Given the description of an element on the screen output the (x, y) to click on. 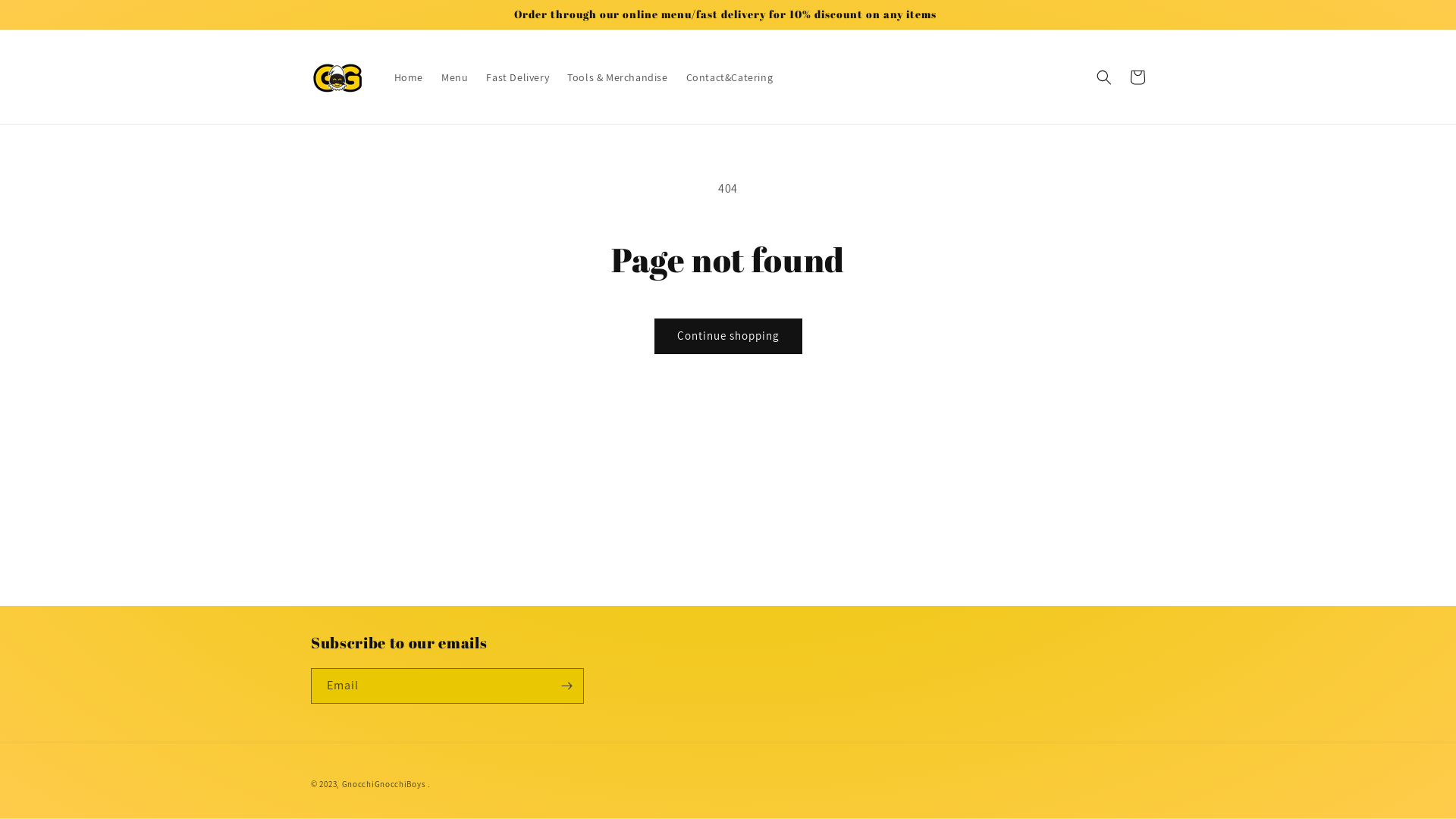
Cart Element type: text (1137, 77)
GnocchiGnocchiBoys Element type: text (384, 783)
Home Element type: text (408, 77)
Fast Delivery Element type: text (517, 77)
Continue shopping Element type: text (727, 336)
Tools & Merchandise Element type: text (617, 77)
. Element type: text (428, 783)
Contact&Catering Element type: text (729, 77)
Menu Element type: text (454, 77)
